Given the description of an element on the screen output the (x, y) to click on. 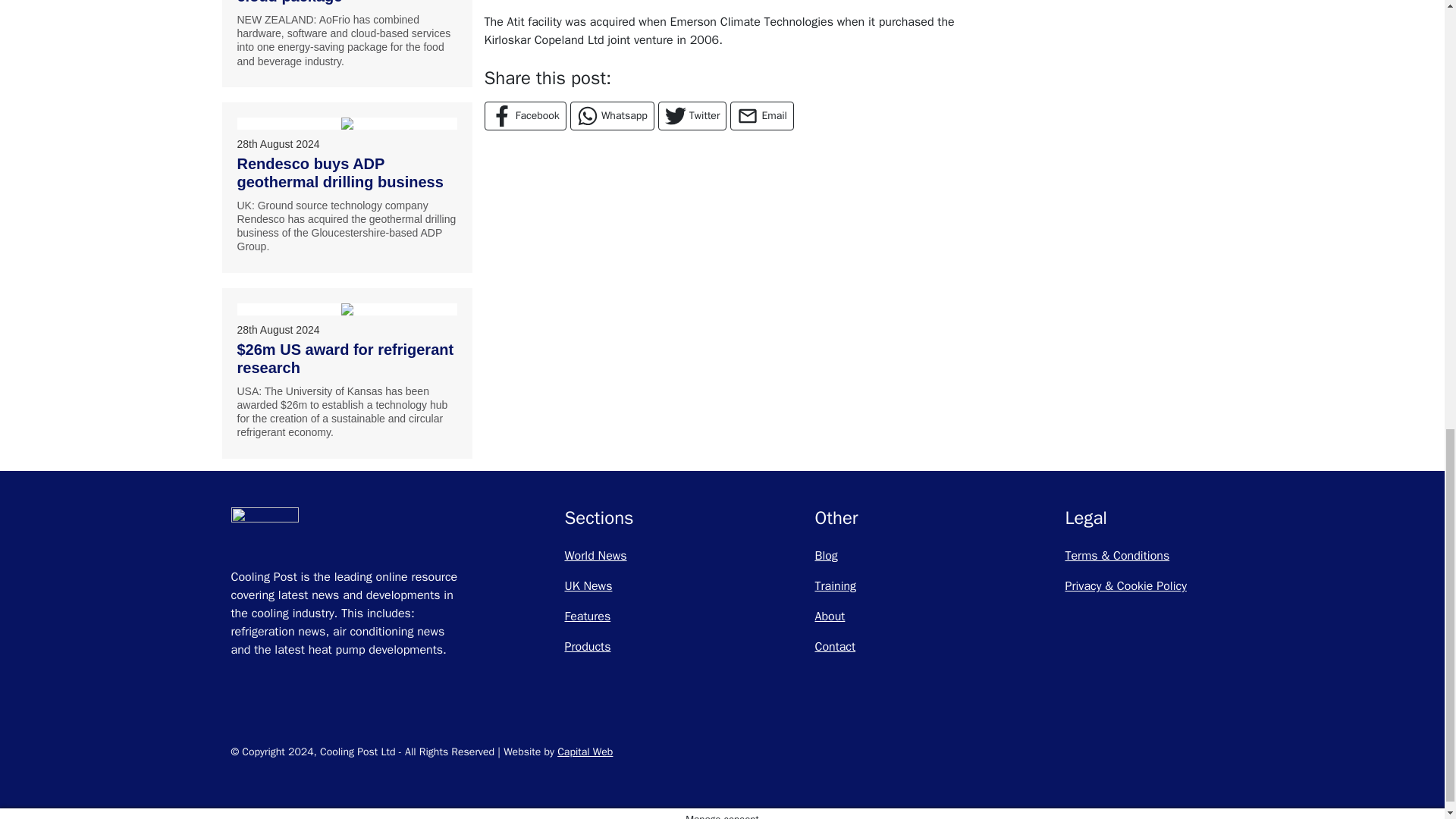
Rendesco buys ADP geothermal drilling business (346, 123)
Share via Email (761, 115)
Share on Twitter (692, 115)
Share on Facebook (524, 115)
Share on Whatsapp (611, 115)
